Given the description of an element on the screen output the (x, y) to click on. 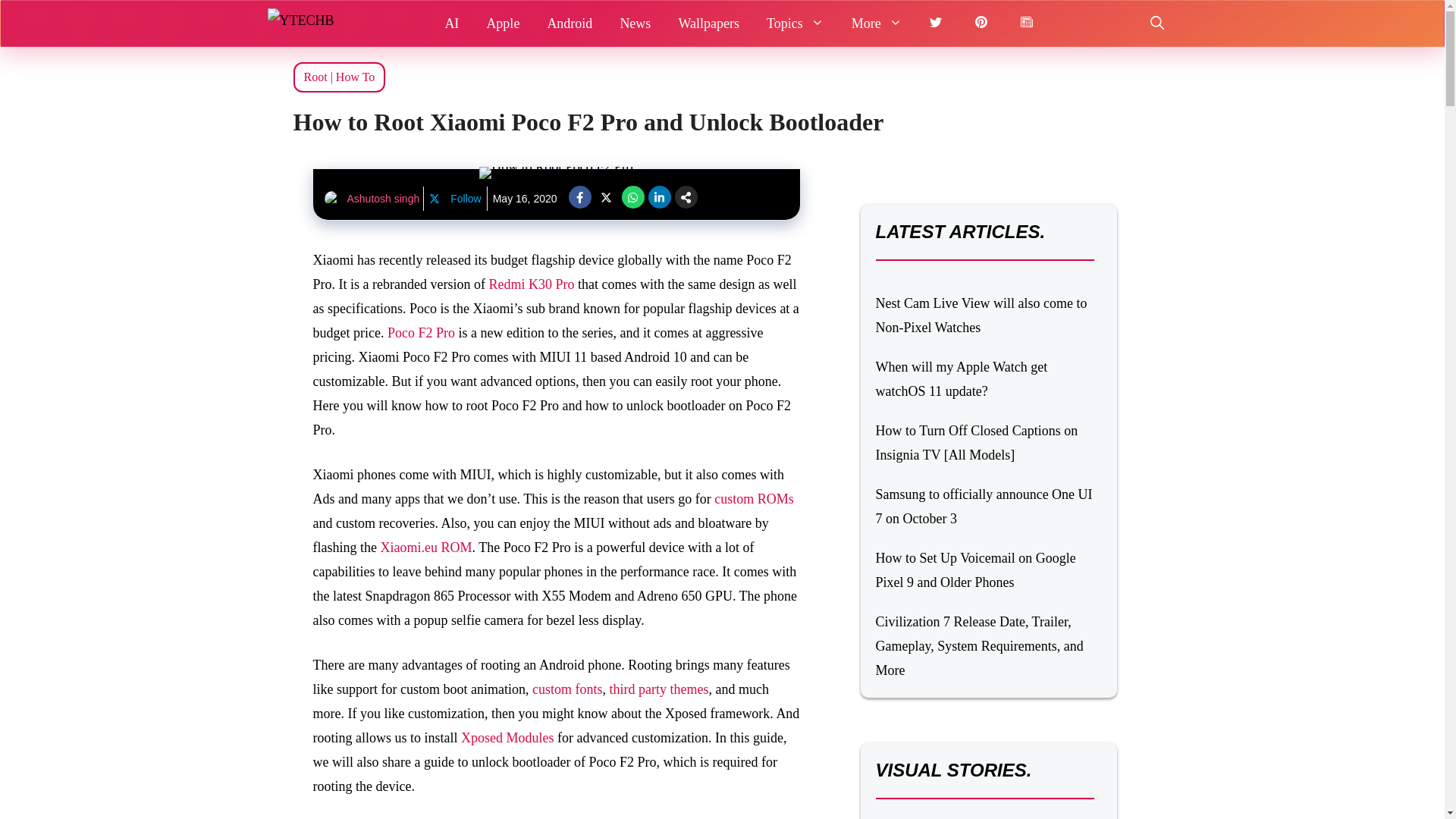
YTECHB (312, 22)
Apple (501, 22)
How To (355, 76)
Wallpapers (707, 22)
AI (450, 22)
Root (314, 76)
Ashutosh singh (383, 198)
News (634, 22)
Android (568, 22)
More (876, 22)
